Given the description of an element on the screen output the (x, y) to click on. 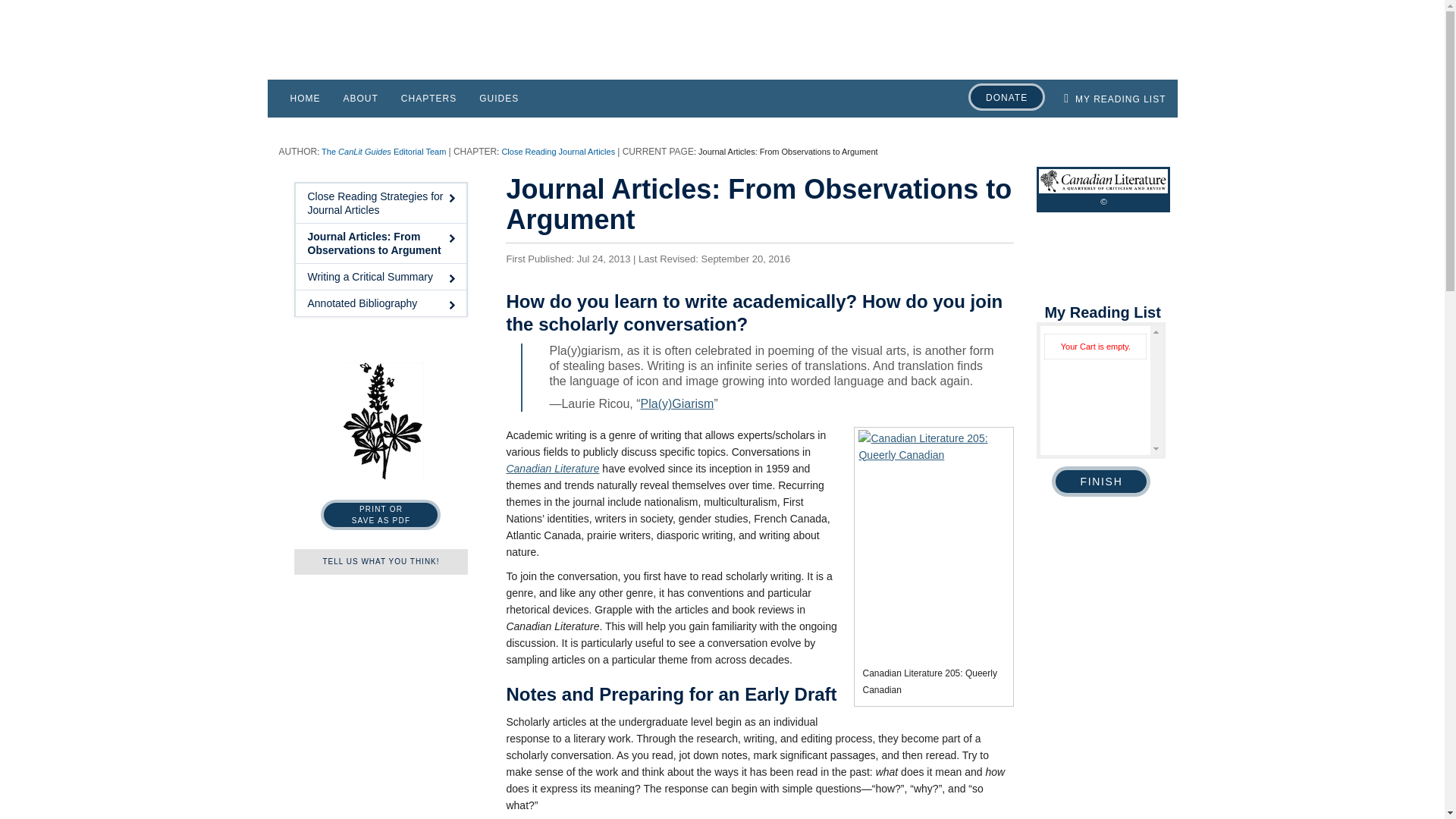
CHAPTERS (428, 98)
MY READING LIST (1114, 98)
GUIDES (498, 98)
HOME (305, 98)
Canadian Literature (380, 514)
CHECKOUT (551, 468)
ABOUT (1100, 481)
DONATE (360, 98)
Writing a Critical Summary (1006, 96)
TELL US WHAT YOU THINK! (381, 276)
Close Reading Journal Articles (380, 561)
Close Reading Journal Articles (557, 151)
Close Reading Strategies for Journal Articles (557, 151)
The CanLit Guides Editorial Team (381, 202)
